Given the description of an element on the screen output the (x, y) to click on. 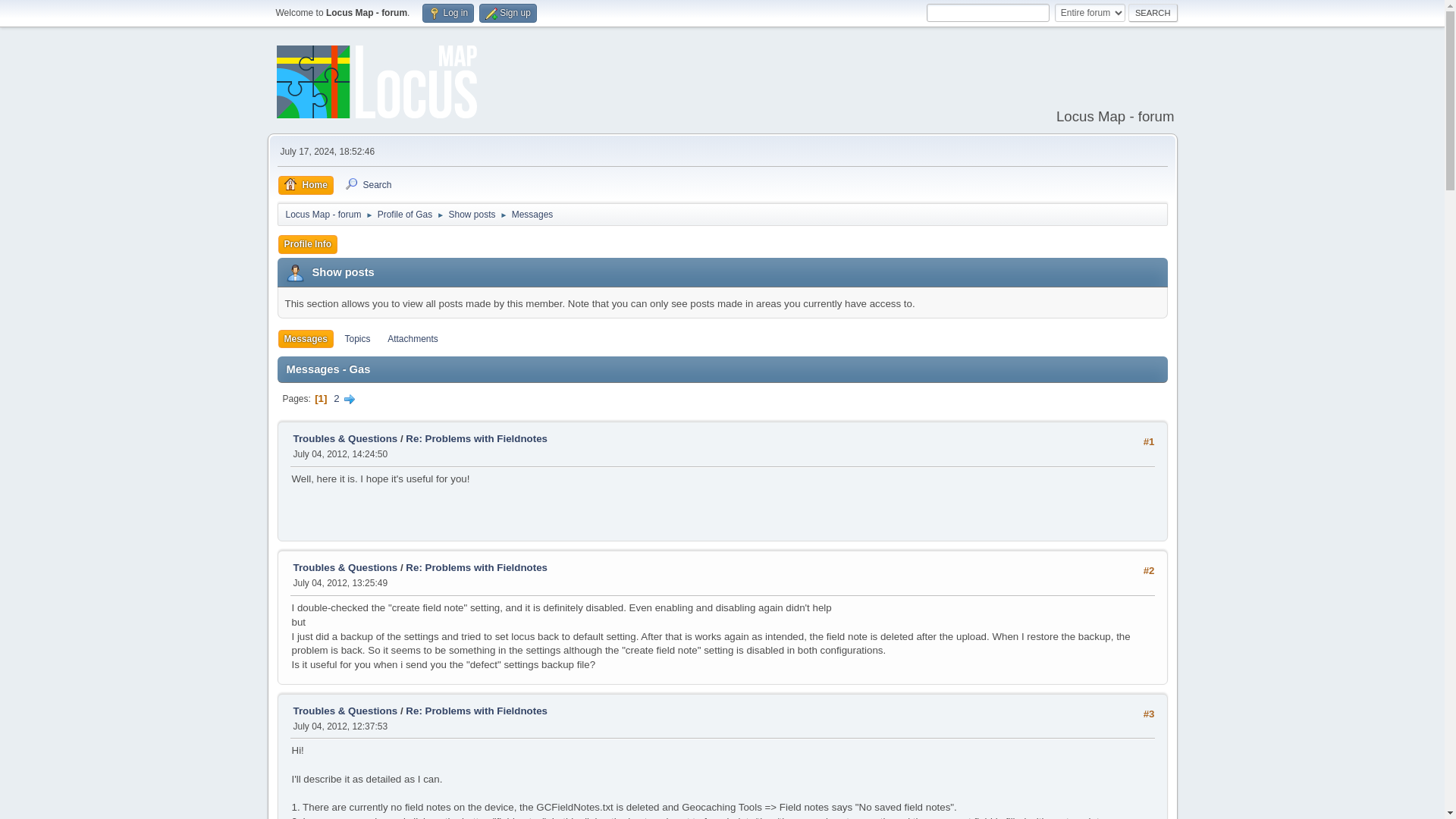
Messages (532, 211)
Show posts (472, 211)
Search (1152, 13)
Profile Info (307, 244)
Re: Problems with Fieldnotes (476, 438)
Re: Problems with Fieldnotes (476, 710)
Profile of Gas (404, 211)
Locus Map - forum (323, 211)
Sign up (508, 13)
Home (305, 185)
Topics (356, 339)
Log in (448, 13)
Messages (305, 339)
Re: Problems with Fieldnotes (476, 567)
Search (367, 185)
